Given the description of an element on the screen output the (x, y) to click on. 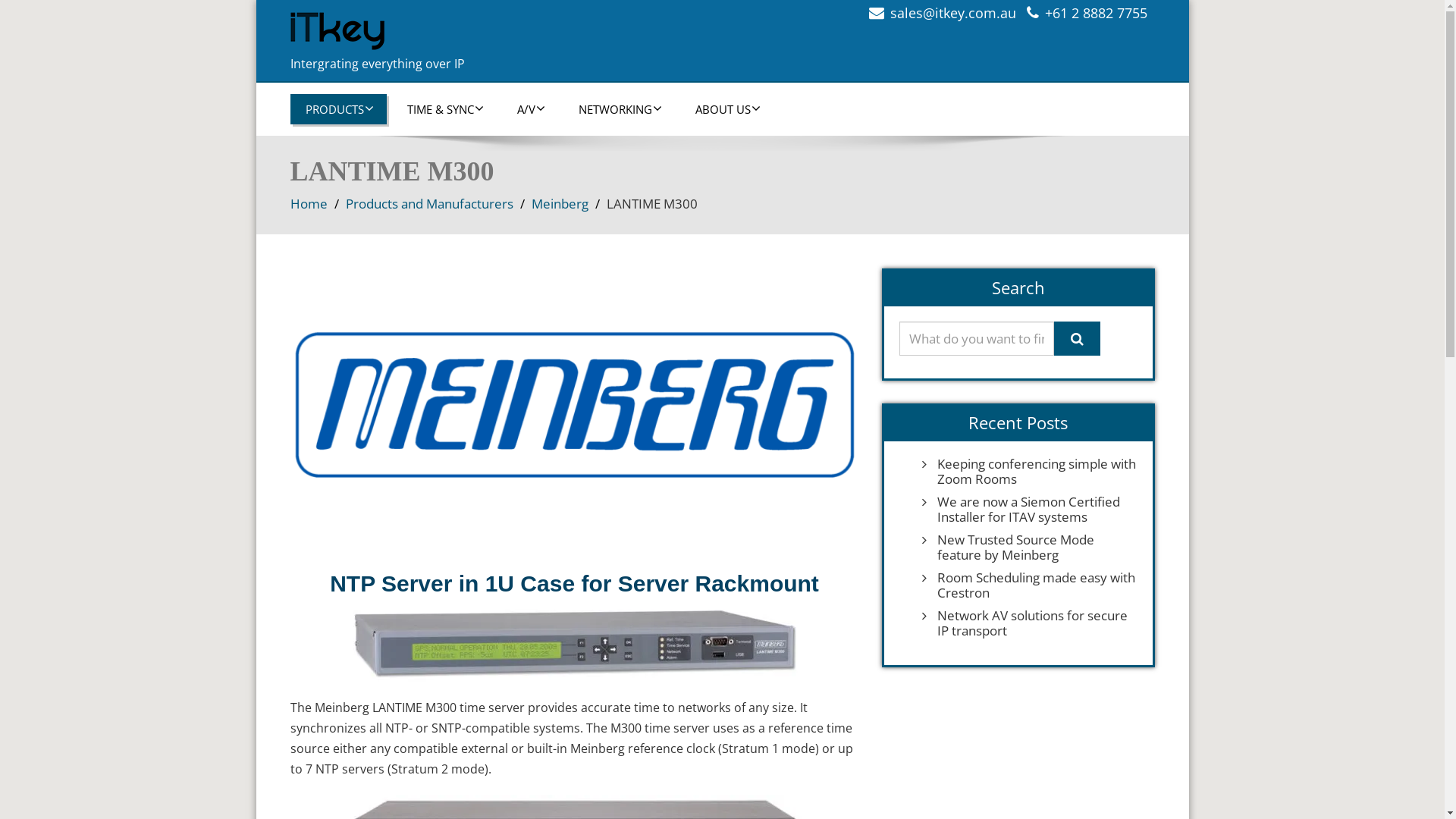
NETWORKING Element type: text (618, 109)
Keeping conferencing simple with Zoom Rooms Element type: text (1033, 471)
We are now a Siemon Certified Installer for ITAV systems Element type: text (1033, 509)
Network AV solutions for secure IP transport Element type: text (1033, 623)
Room Scheduling made easy with Crestron Element type: text (1033, 585)
iTkey Element type: hover (499, 31)
Products and Manufacturers Element type: text (429, 203)
PRODUCTS Element type: text (337, 109)
sales@itkey.com.au Element type: text (953, 12)
ABOUT US Element type: text (725, 109)
TIME & SYNC Element type: text (443, 109)
New Trusted Source Mode feature by Meinberg Element type: text (1033, 547)
A/V Element type: text (530, 109)
+61 2 8882 7755 Element type: text (1095, 12)
Meinberg Element type: text (558, 203)
Home Element type: text (307, 203)
